Given the description of an element on the screen output the (x, y) to click on. 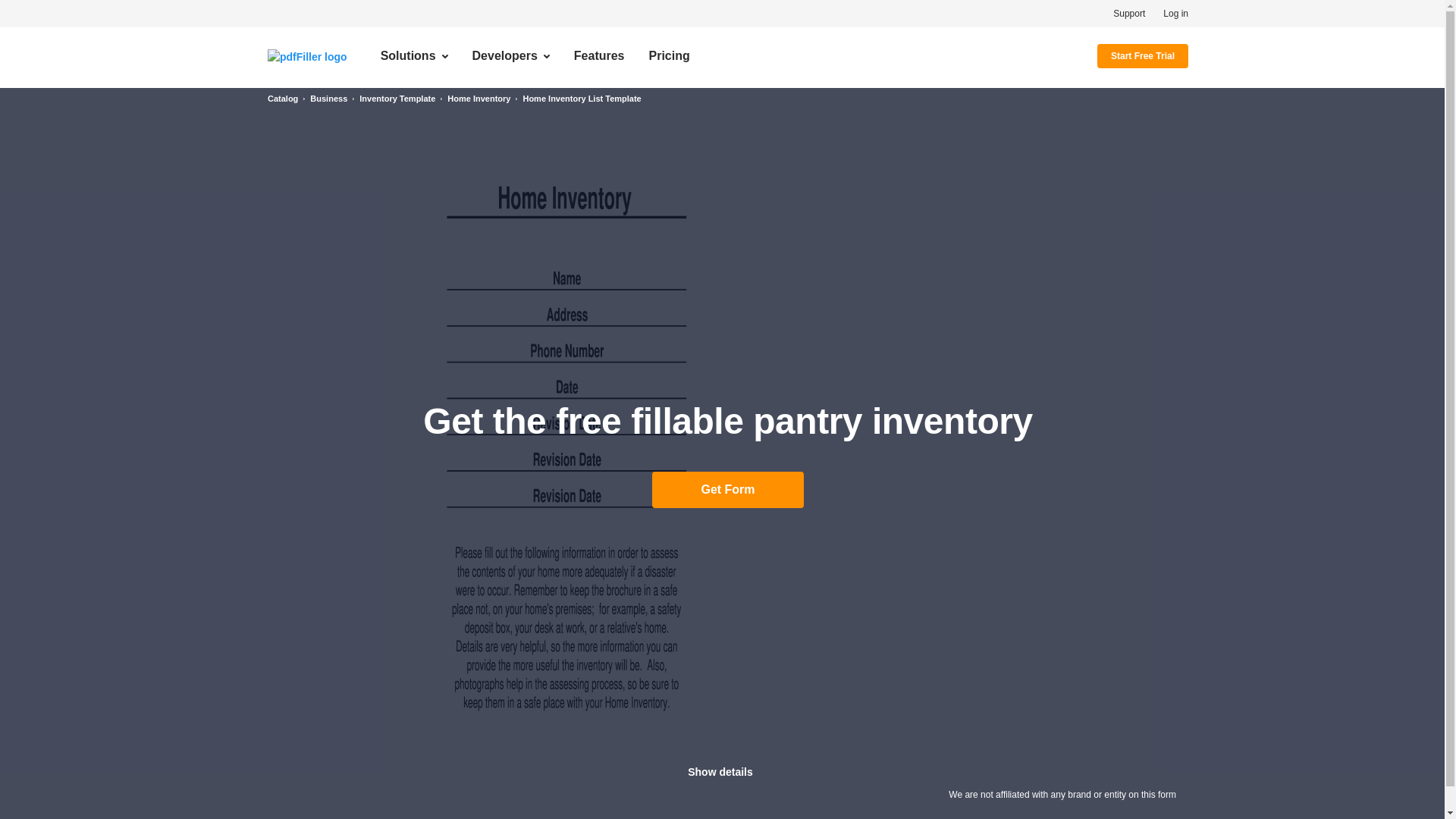
Support (1128, 13)
Features (599, 56)
pdfFiller (307, 55)
Log in (1175, 13)
Support (1128, 13)
Pricing (669, 56)
Log in (1175, 13)
